Given the description of an element on the screen output the (x, y) to click on. 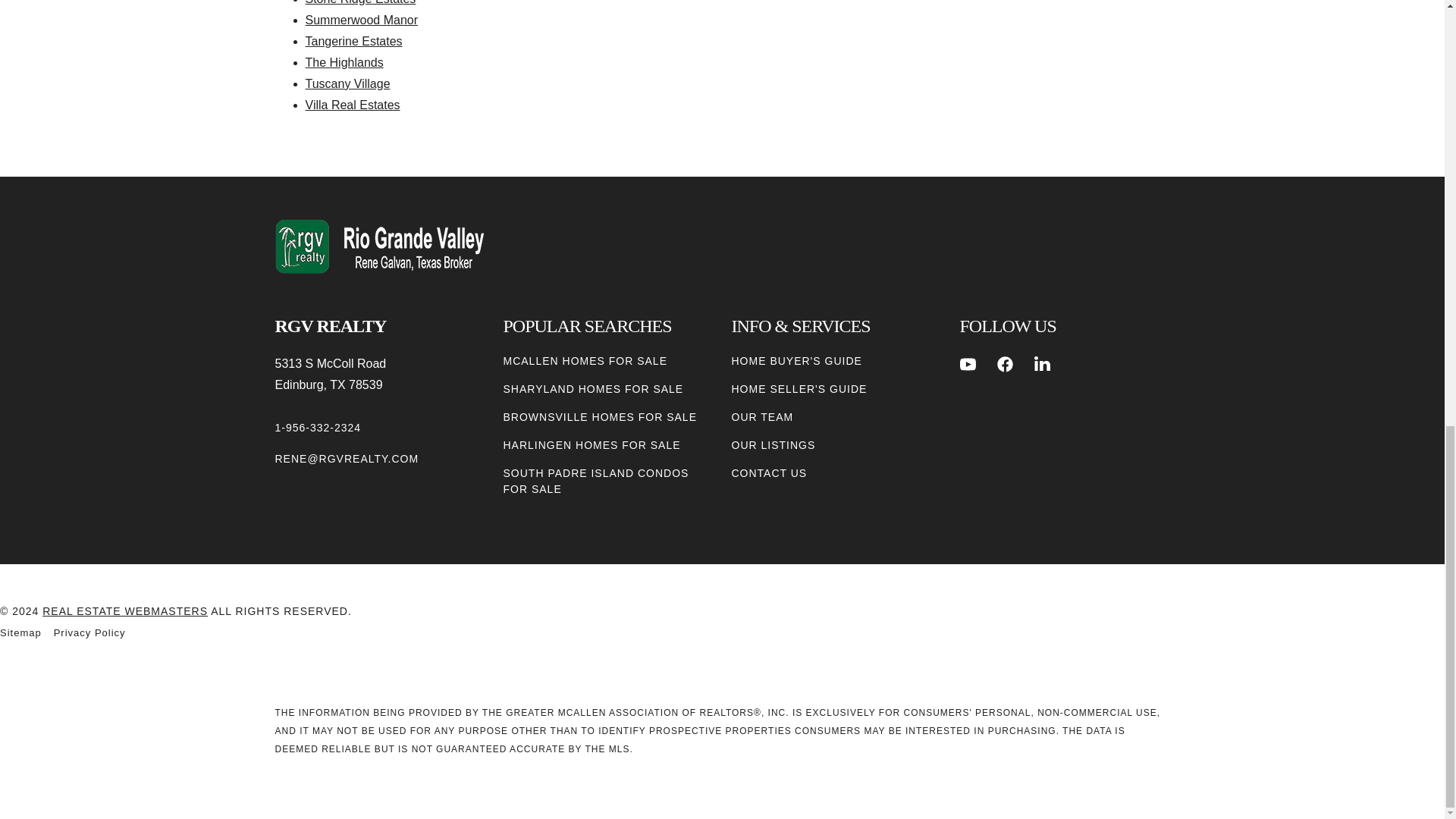
FACEBOOK (1005, 364)
YOUTUBE (967, 364)
LINKEDIN (1041, 364)
